Given the description of an element on the screen output the (x, y) to click on. 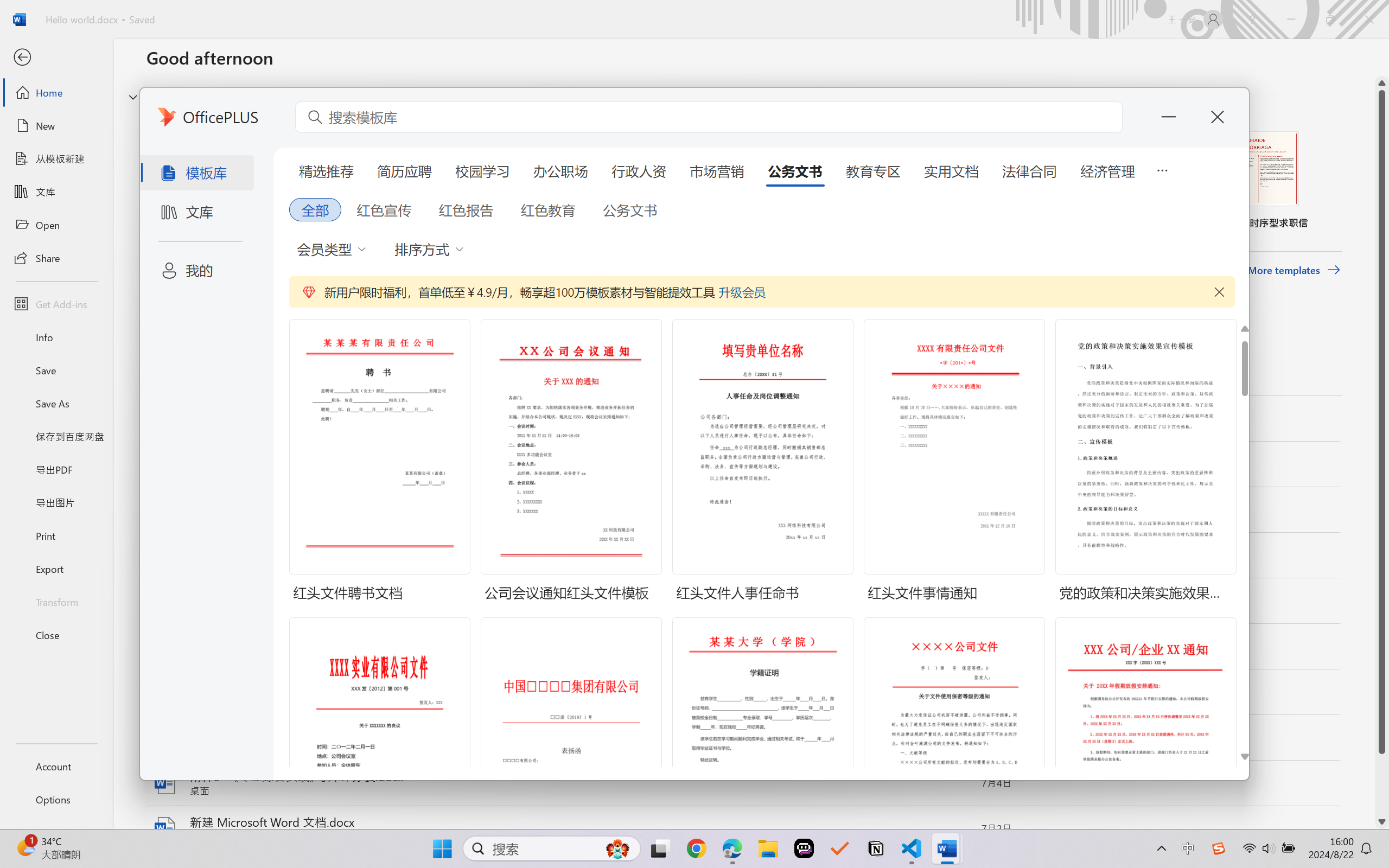
Visual Studio Code (31, 355)
2401.17399v1.pdf (1278, 28)
Class: Image (1218, 847)
2301.12597v3.pdf (1340, 189)
